Given the description of an element on the screen output the (x, y) to click on. 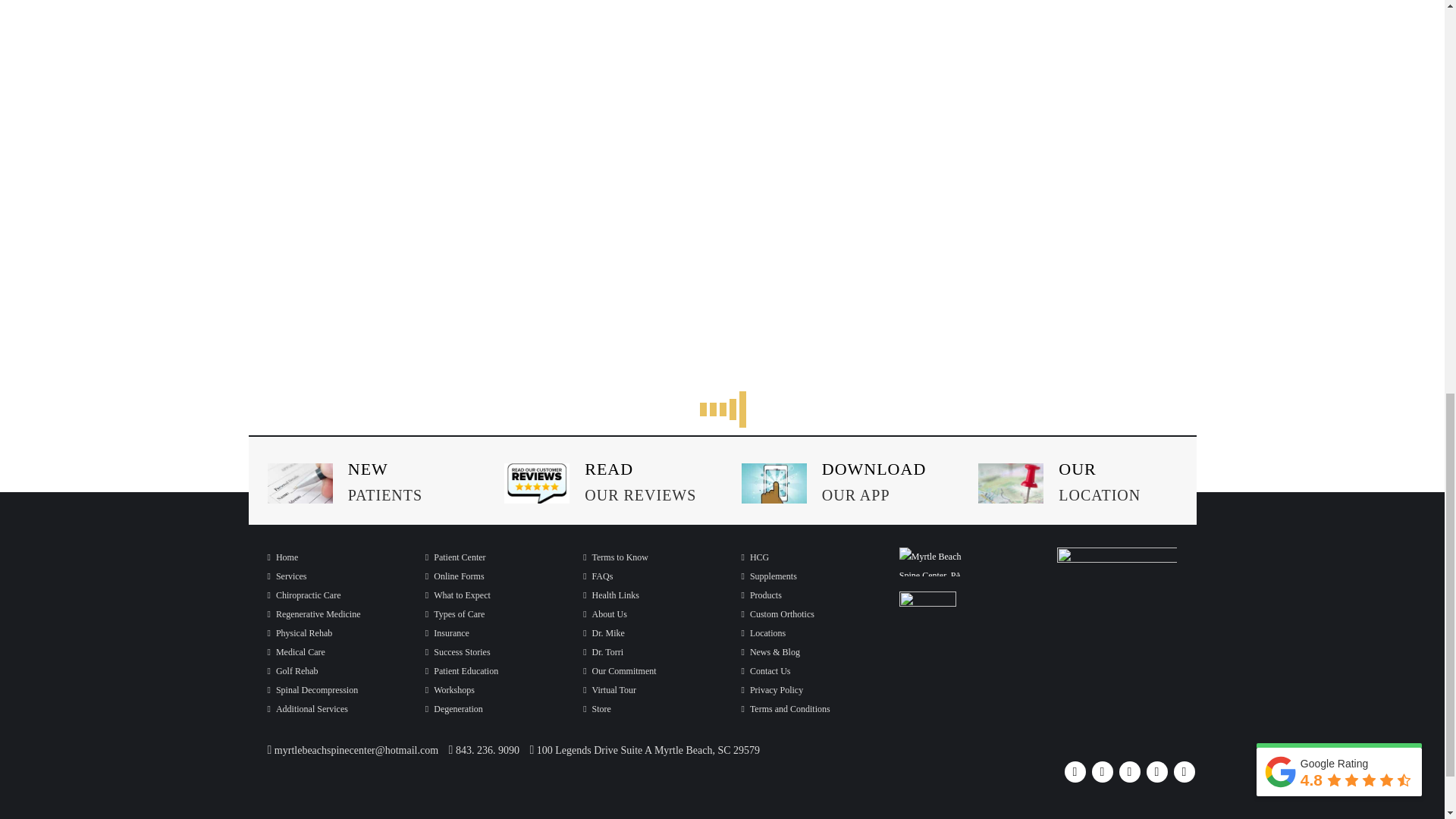
Additional Services (306, 708)
Types of Care (454, 614)
Chiropractic Care (303, 594)
Patient Center (455, 557)
Services (285, 575)
Medical Care (295, 652)
Physical Rehab (298, 633)
Online Forms (454, 575)
Spinal Decompression (312, 689)
Myrtle Beach Spine Center (282, 557)
What to Expect (457, 594)
Golf Rehab (291, 670)
